Given the description of an element on the screen output the (x, y) to click on. 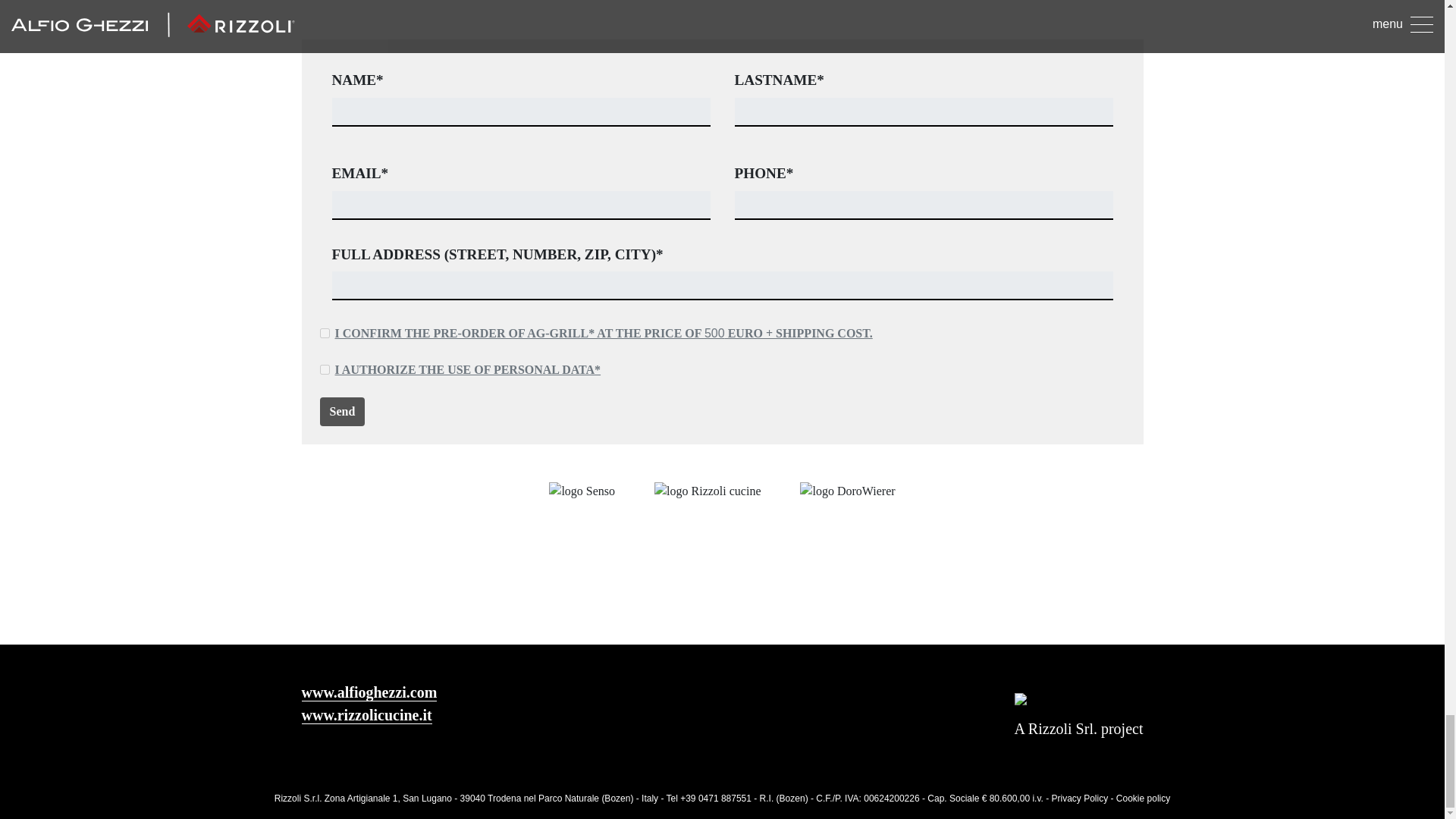
www.rizzolicucine.it (366, 714)
on (325, 333)
on (325, 369)
Send (342, 411)
www.alfioghezzi.com (369, 692)
Privacy Policy - Cookie policy (1110, 798)
